Given the description of an element on the screen output the (x, y) to click on. 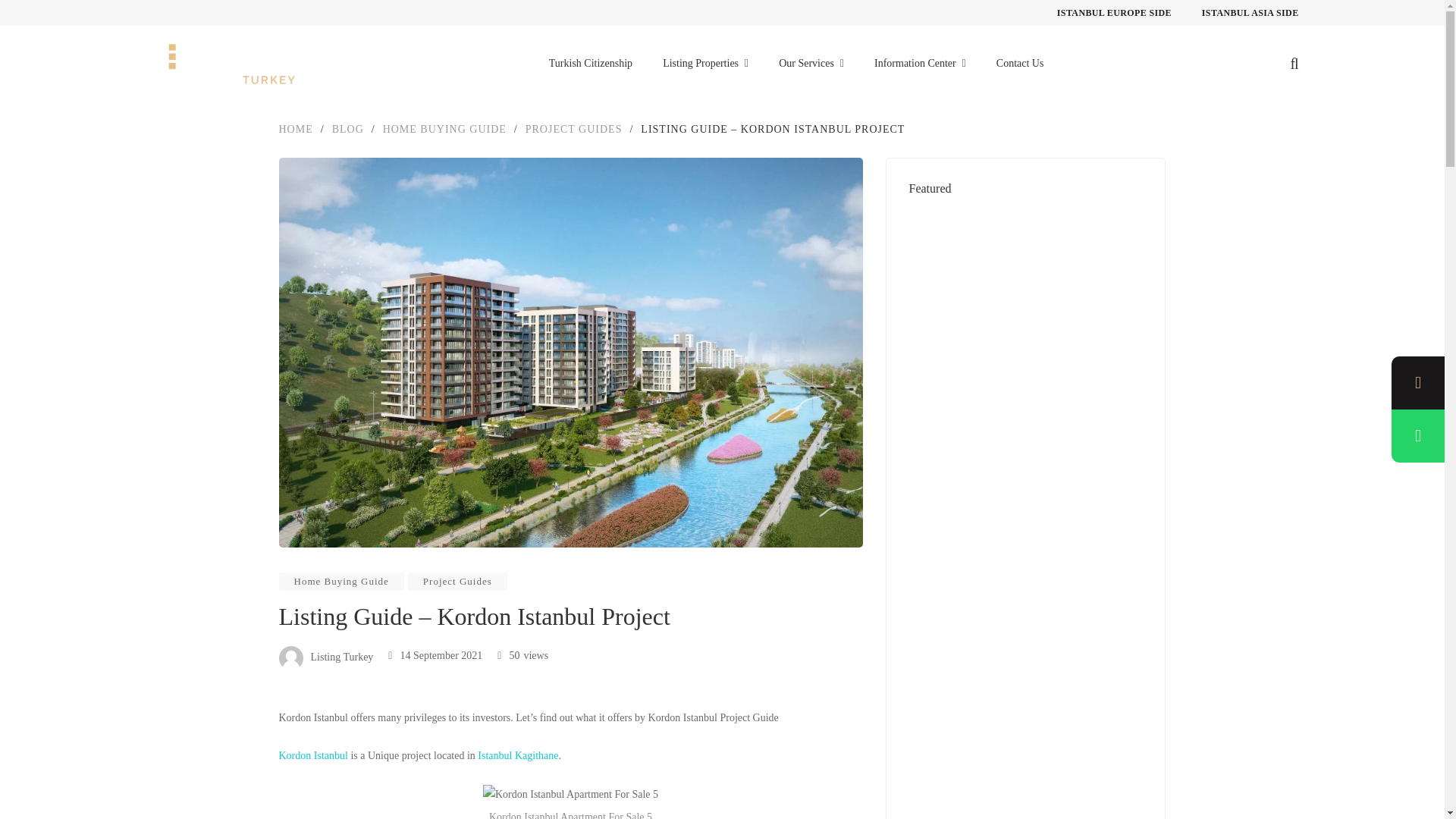
Browse Author Articles (326, 656)
Listing Properties (705, 63)
Turkish Citizenship (589, 63)
Listing Turkey-Real Estate (219, 63)
ISTANBUL EUROPE SIDE (1114, 12)
ISTANBUL ASIA SIDE (1250, 12)
